Given the description of an element on the screen output the (x, y) to click on. 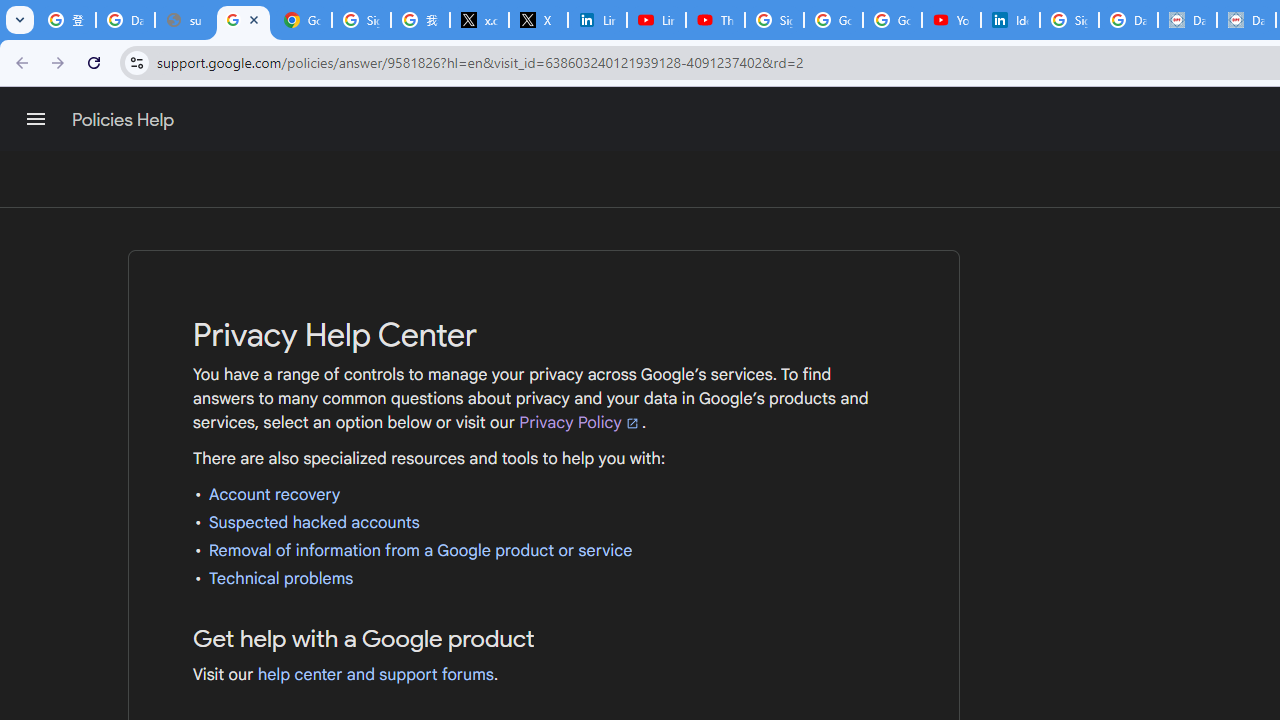
help center and support forums (375, 674)
Technical problems (281, 578)
Privacy Help Center - Policies Help (242, 20)
Sign in - Google Accounts (360, 20)
Suspected hacked accounts (313, 522)
